Given the description of an element on the screen output the (x, y) to click on. 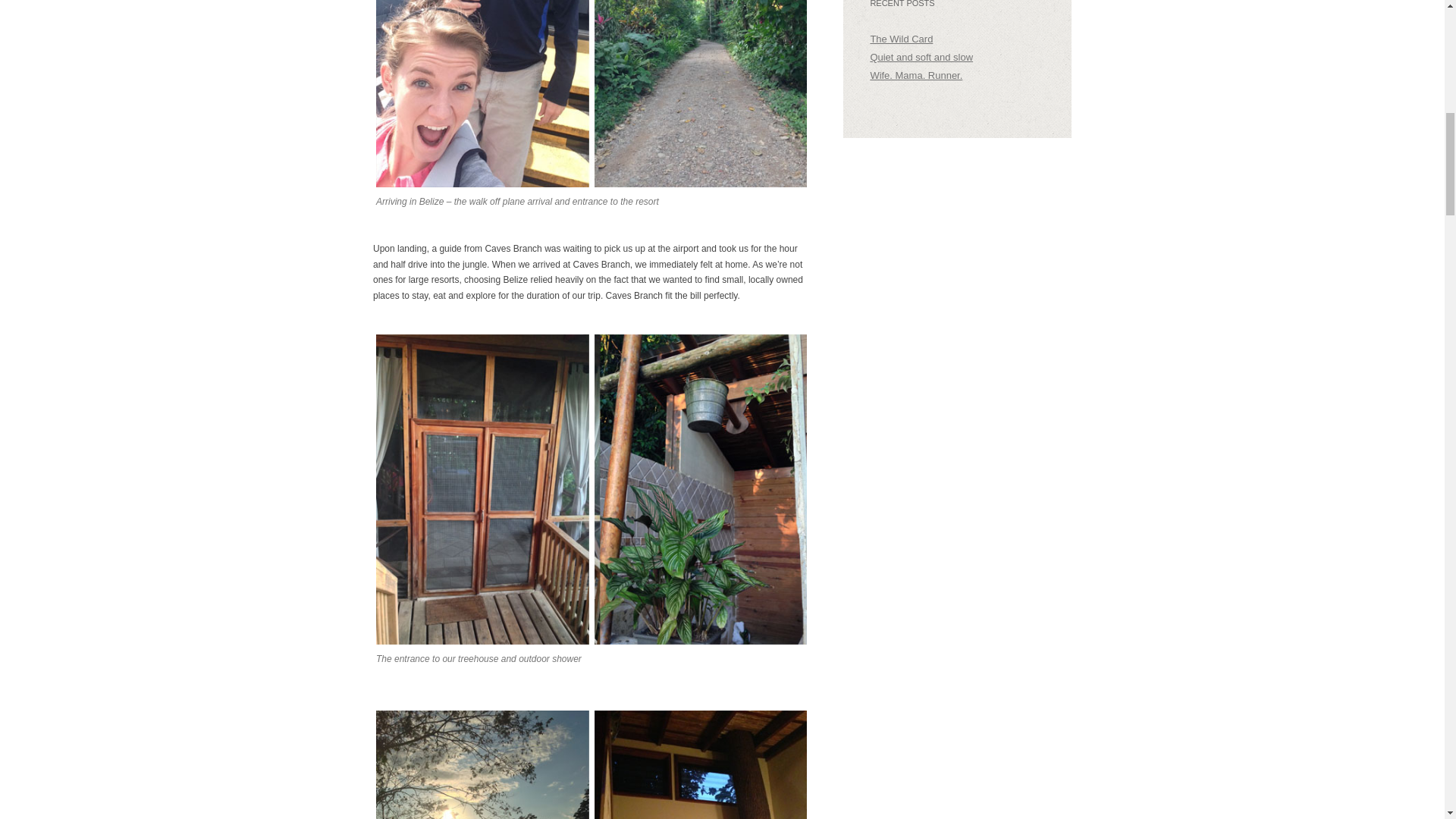
Wife. Mama. Runner. (915, 75)
Quiet and soft and slow (920, 57)
The Wild Card (901, 39)
